Given the description of an element on the screen output the (x, y) to click on. 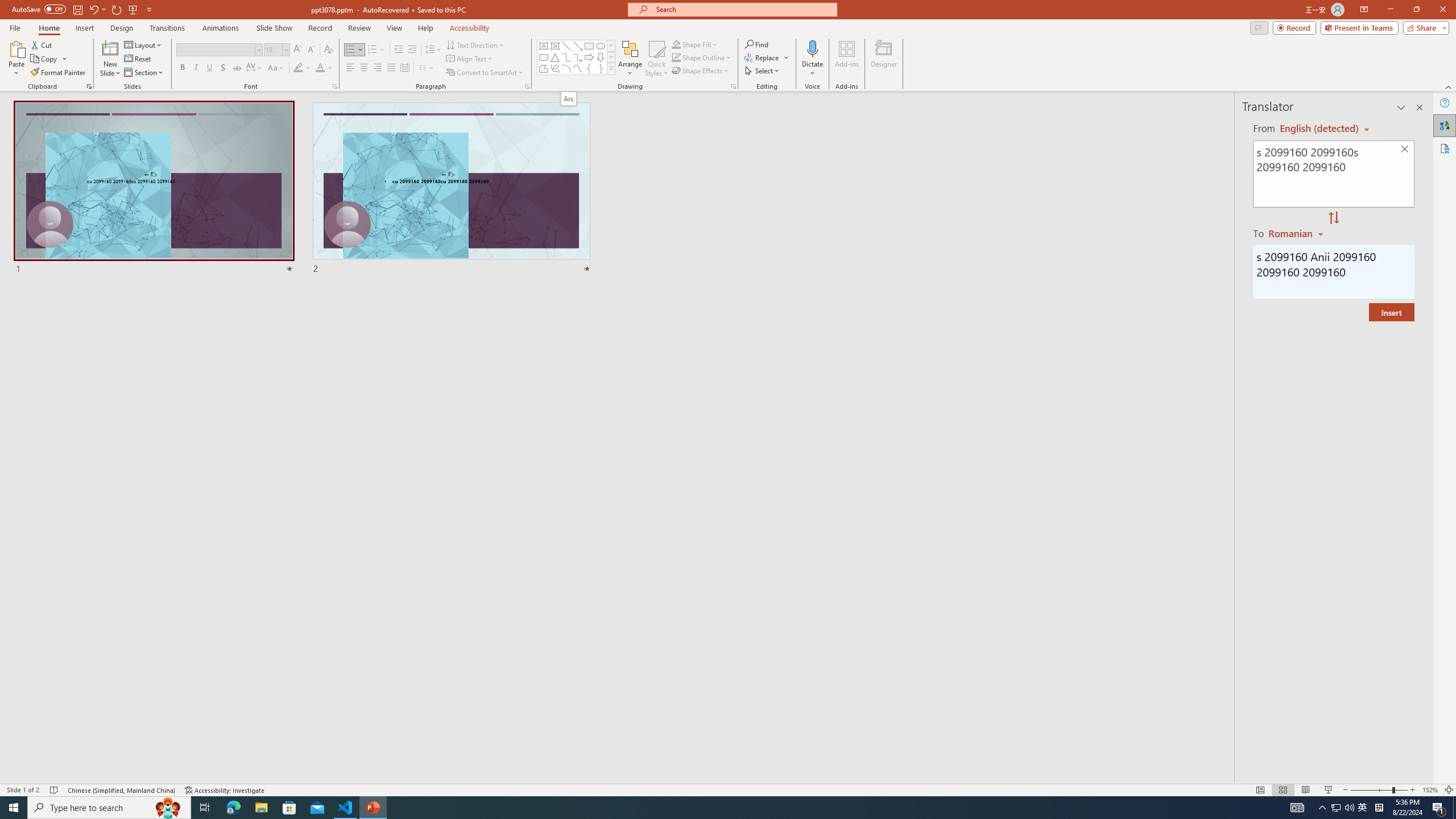
Font Color Red (320, 67)
Line Arrow (577, 45)
Quick Styles (656, 58)
Curve (577, 68)
Section (144, 72)
Shadow (223, 67)
Connector: Elbow (566, 57)
Format Object... (733, 85)
Change Case (276, 67)
